Given the description of an element on the screen output the (x, y) to click on. 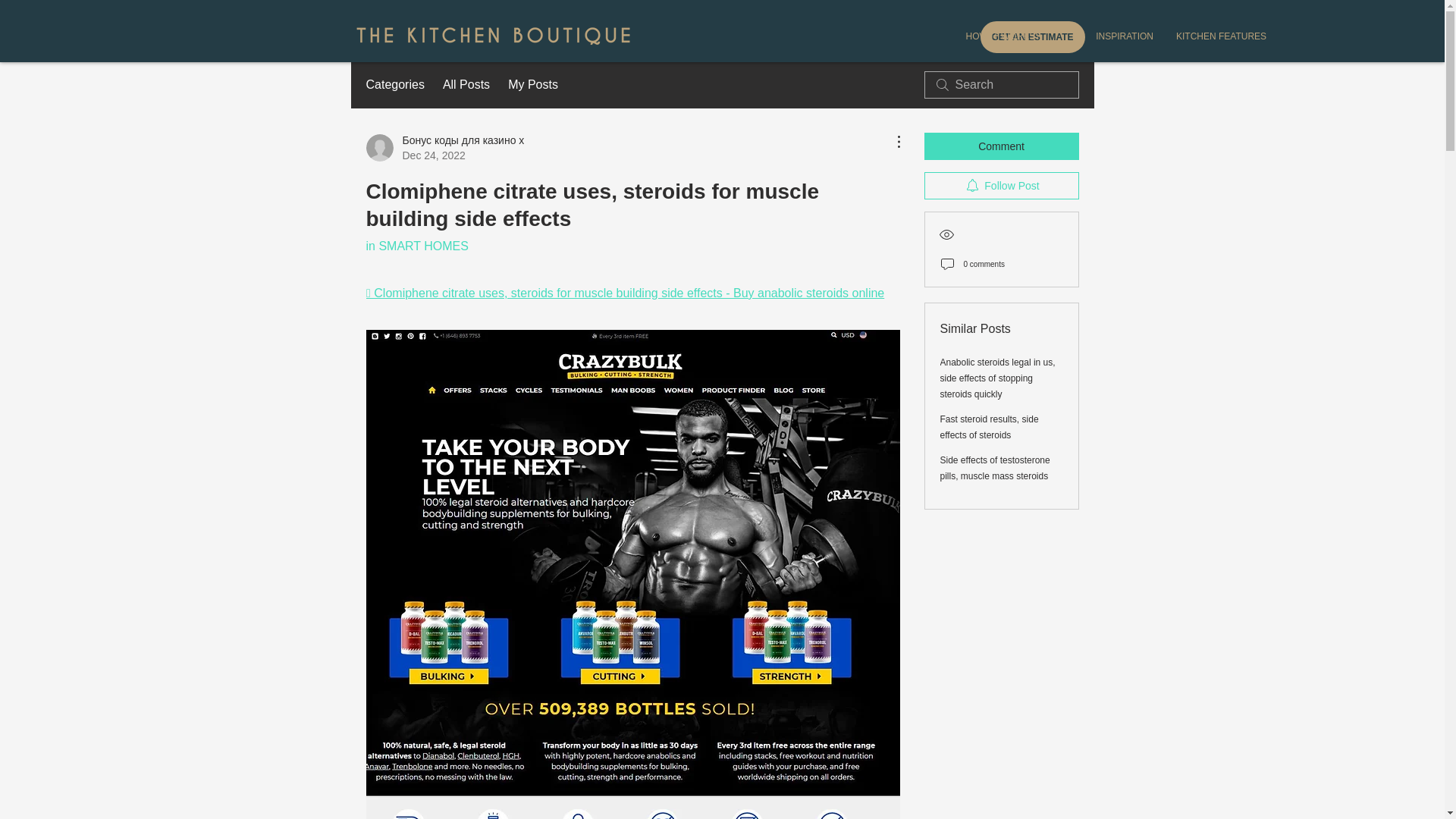
INSPIRATION (1107, 36)
PNG Gold rect.png (493, 36)
My Posts (532, 85)
Fast steroid results, side effects of steroids (989, 427)
Comment (1000, 145)
Follow Post (1000, 185)
Categories (394, 85)
All Posts (465, 85)
HOW IT WORKS? (995, 36)
